Given the description of an element on the screen output the (x, y) to click on. 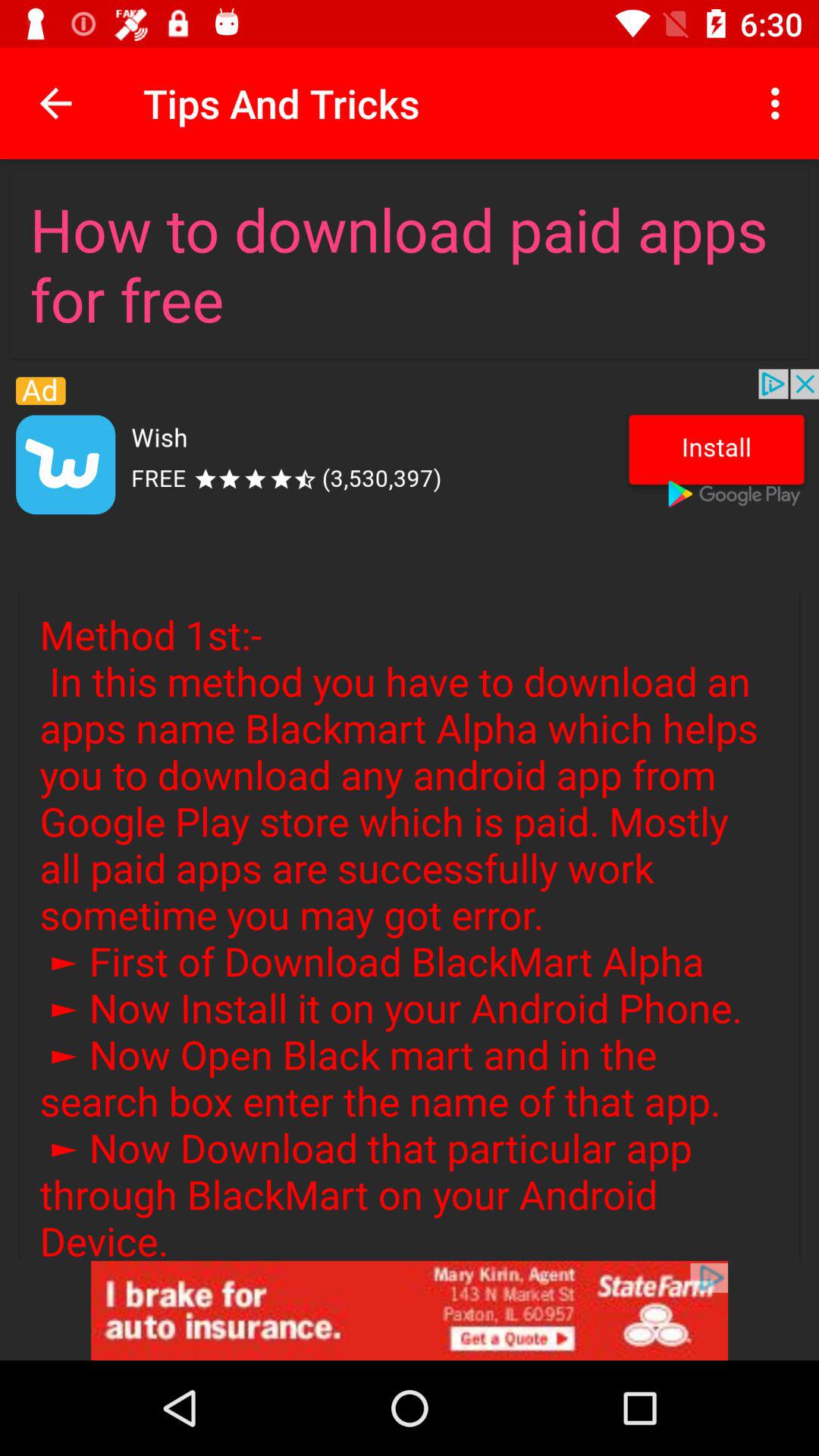
advertisement page (409, 1310)
